Given the description of an element on the screen output the (x, y) to click on. 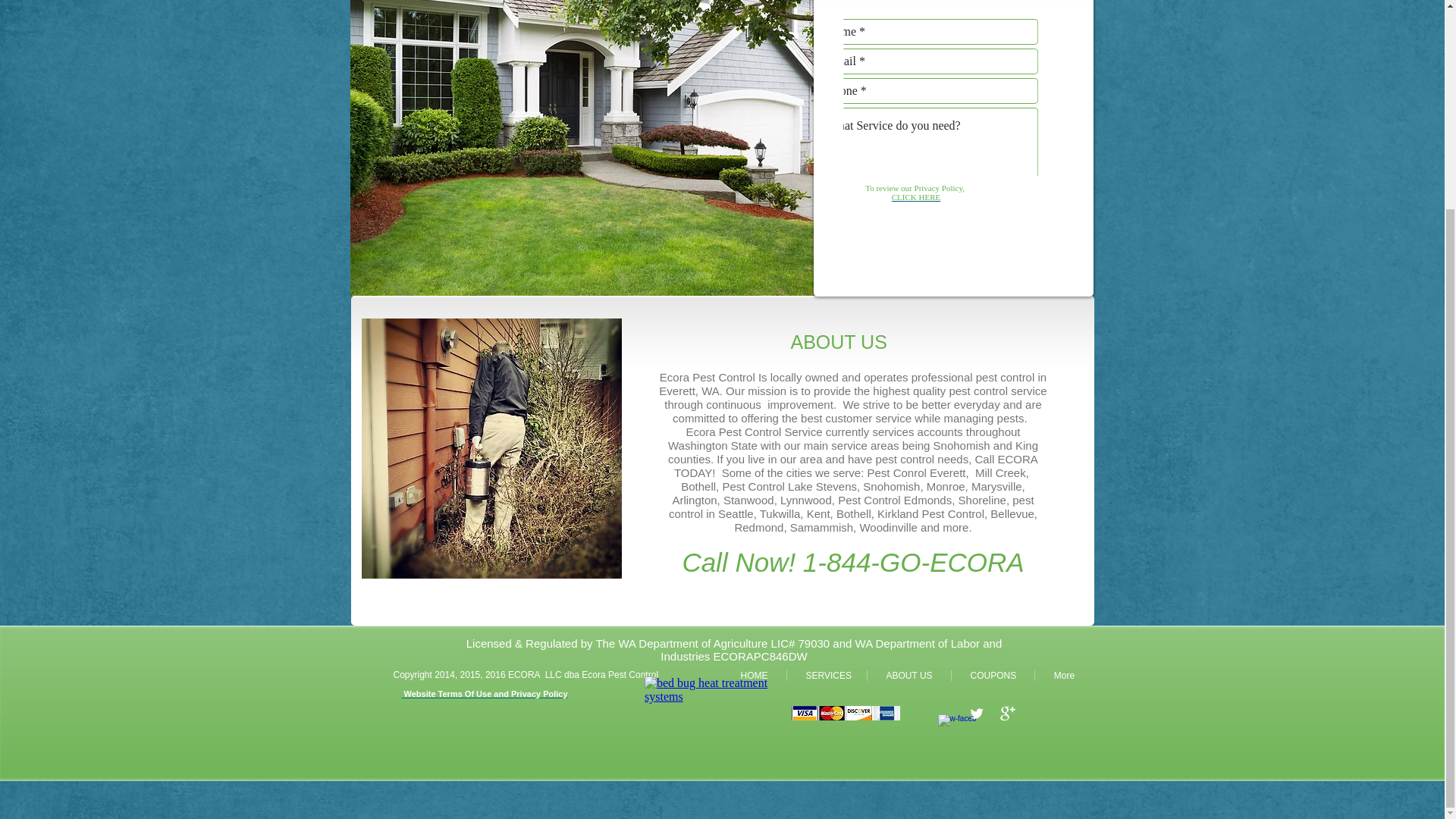
ABOUT US (908, 675)
COUPONS (991, 675)
SERVICES (826, 675)
CLICK HERE (915, 196)
Embedded Content (713, 737)
 Website Terms Of Use and Privacy Policy (484, 693)
creditcardlogos.jpg (845, 712)
Submit (1009, 225)
HOME (754, 675)
